Given the description of an element on the screen output the (x, y) to click on. 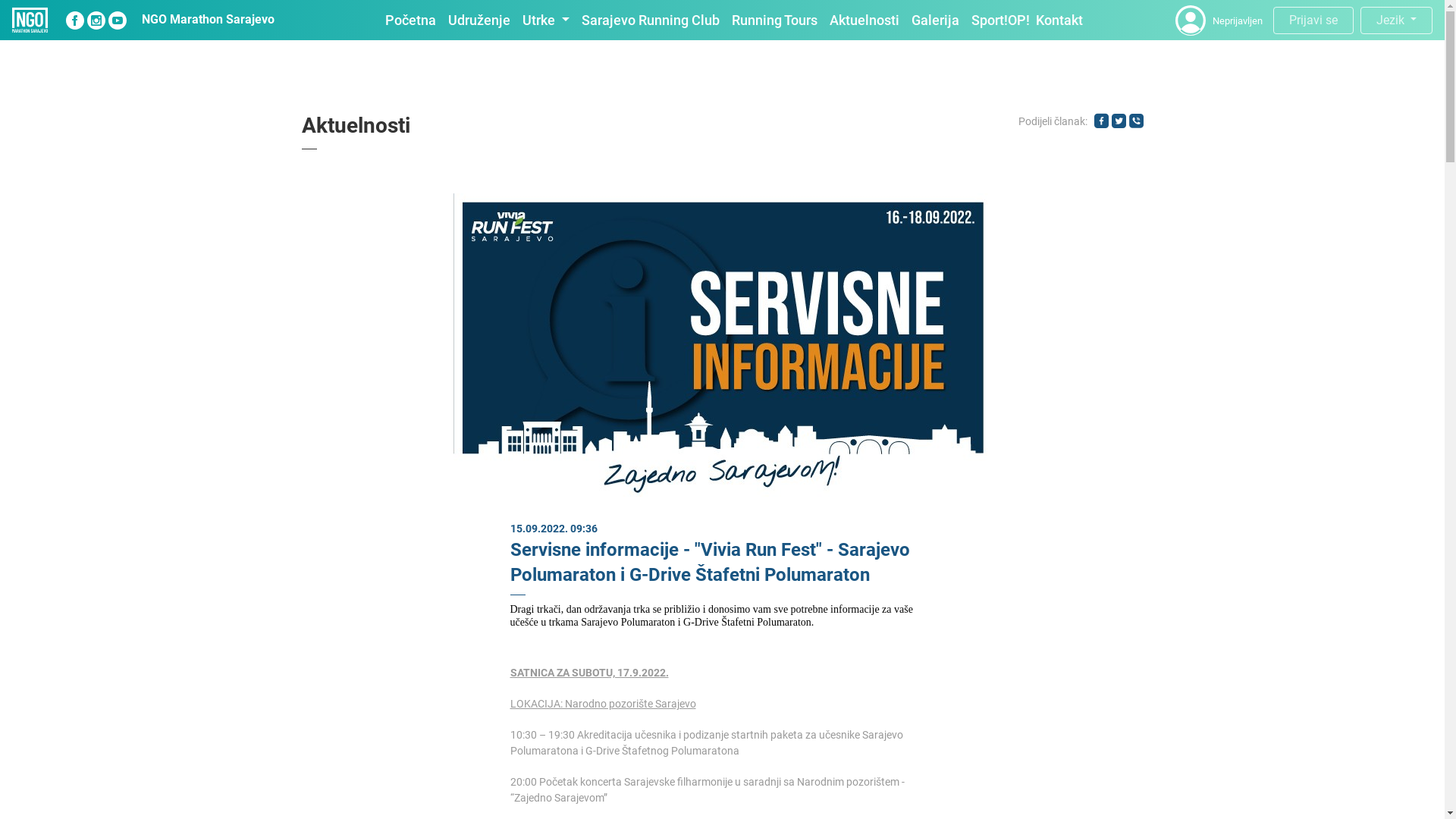
Galerija Element type: text (935, 19)
Running Tours Element type: text (774, 19)
Aktuelnosti Element type: text (864, 19)
Sport!OP! Element type: text (1000, 19)
NGO Marathon Sarajevo Element type: text (207, 19)
Sarajevo Running Club Element type: text (650, 19)
Jezik Element type: text (1396, 20)
Utrke Element type: text (545, 19)
Prijavi se Element type: text (1313, 20)
Kontakt Element type: text (1058, 19)
